Given the description of an element on the screen output the (x, y) to click on. 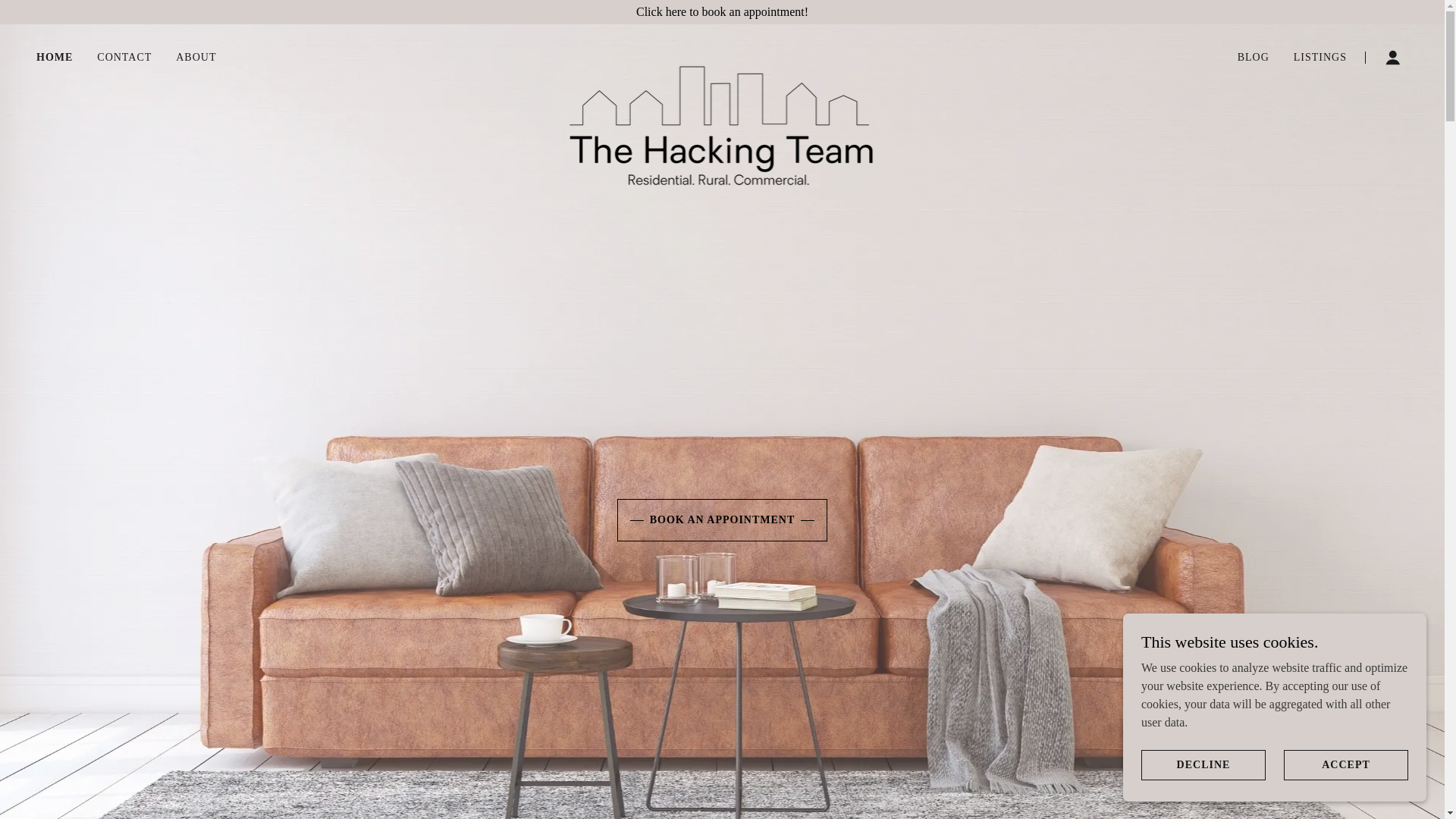
BLOG (1253, 57)
BOOK AN APPOINTMENT (722, 519)
Hacking Home Team.com (721, 54)
CONTACT (124, 57)
HOME (54, 57)
LISTINGS (1319, 57)
ABOUT (196, 57)
